Given the description of an element on the screen output the (x, y) to click on. 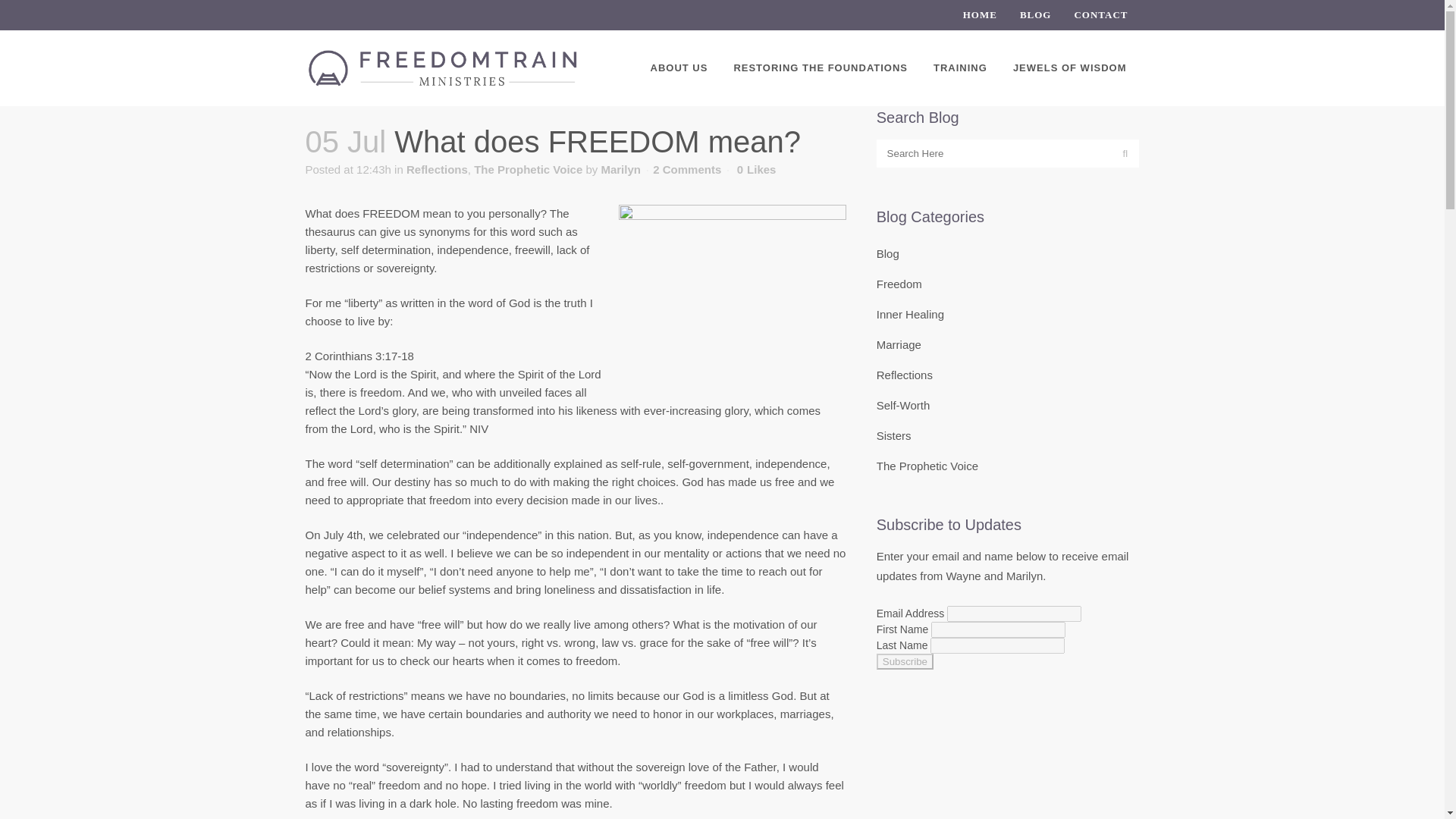
Marilyn (619, 169)
ABOUT US (678, 68)
The Prophetic Voice (528, 169)
It is Finished (731, 289)
Blog (887, 253)
JEWELS OF WISDOM (1070, 68)
Reflections (436, 169)
CONTACT (1094, 15)
Marriage (898, 344)
Subscribe (904, 661)
HOME (974, 15)
Inner Healing (909, 314)
2 Comments (686, 169)
RESTORING THE FOUNDATIONS (820, 68)
0 Likes (756, 169)
